Given the description of an element on the screen output the (x, y) to click on. 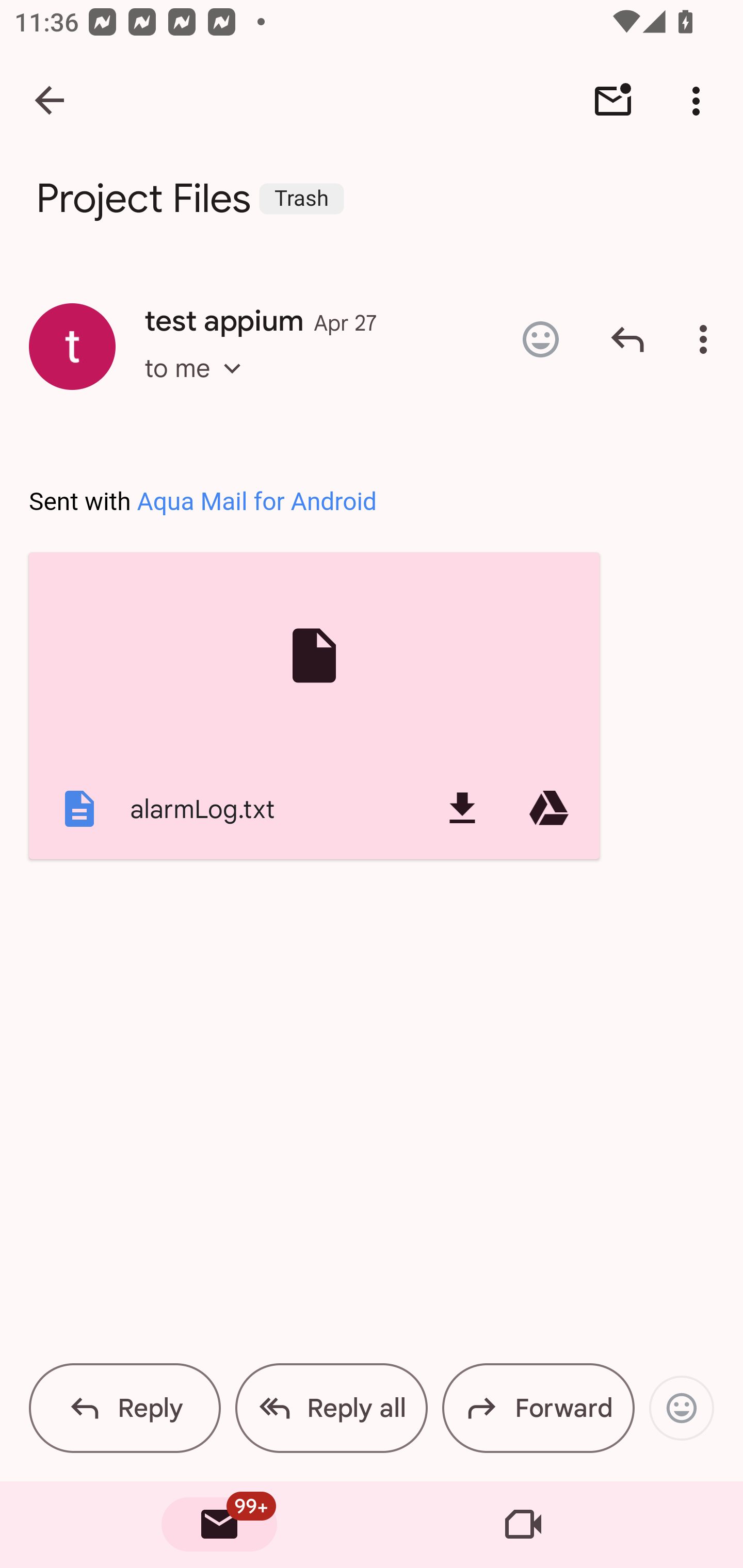
Navigate up (50, 101)
Mark unread (612, 101)
More options (699, 101)
Add emoji reaction (540, 339)
Reply (626, 339)
More options (706, 339)
Show contact information for test appium (71, 346)
to me (199, 386)
Save (462, 808)
Save to Drive (548, 808)
Reply (124, 1407)
Reply all (331, 1407)
Forward (538, 1407)
Add emoji reaction (681, 1407)
Meet (523, 1524)
